Given the description of an element on the screen output the (x, y) to click on. 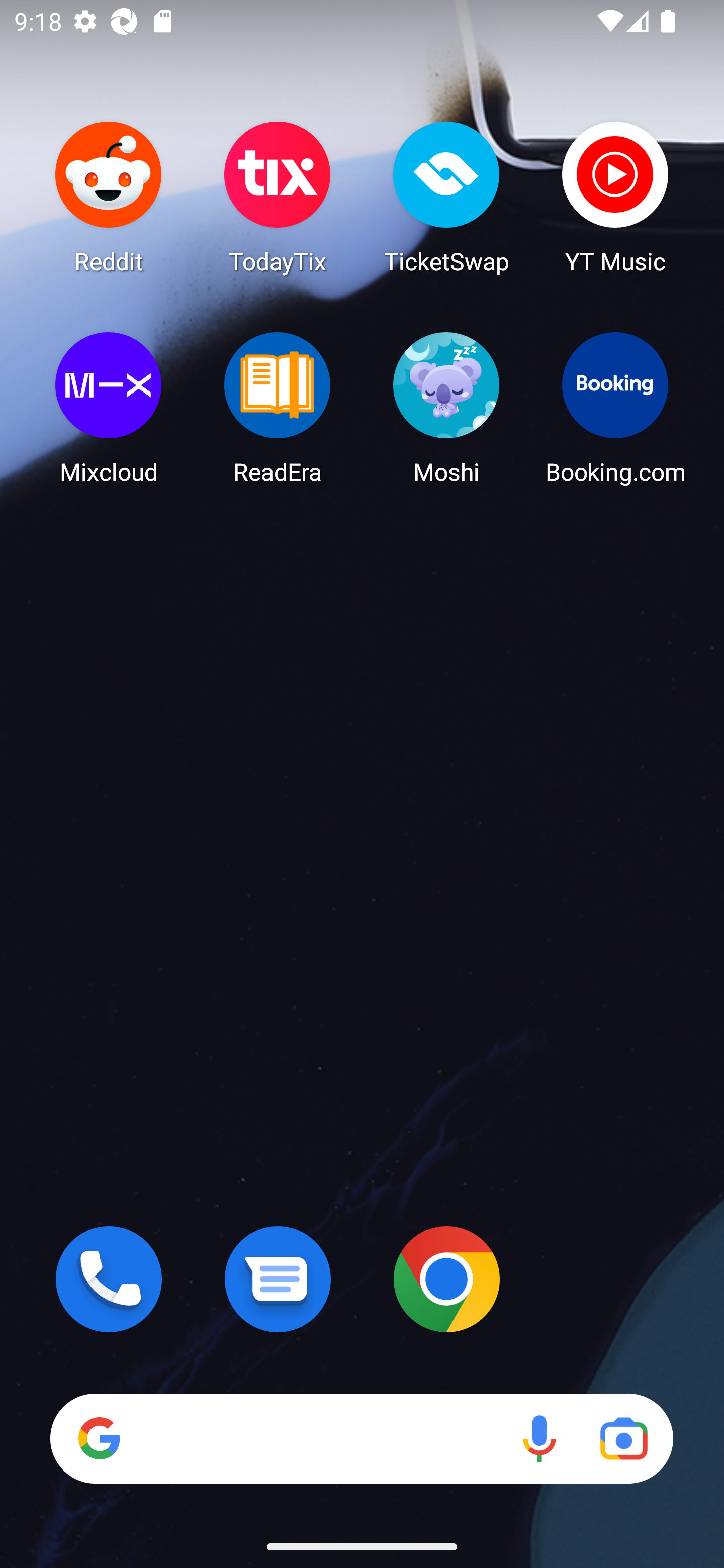
Reddit (108, 196)
TodayTix (277, 196)
TicketSwap (445, 196)
YT Music (615, 196)
Mixcloud (108, 407)
ReadEra (277, 407)
Moshi (445, 407)
Booking.com (615, 407)
Phone (108, 1279)
Messages (277, 1279)
Chrome (446, 1279)
Search Voice search Google Lens (361, 1438)
Voice search (539, 1438)
Google Lens (623, 1438)
